Given the description of an element on the screen output the (x, y) to click on. 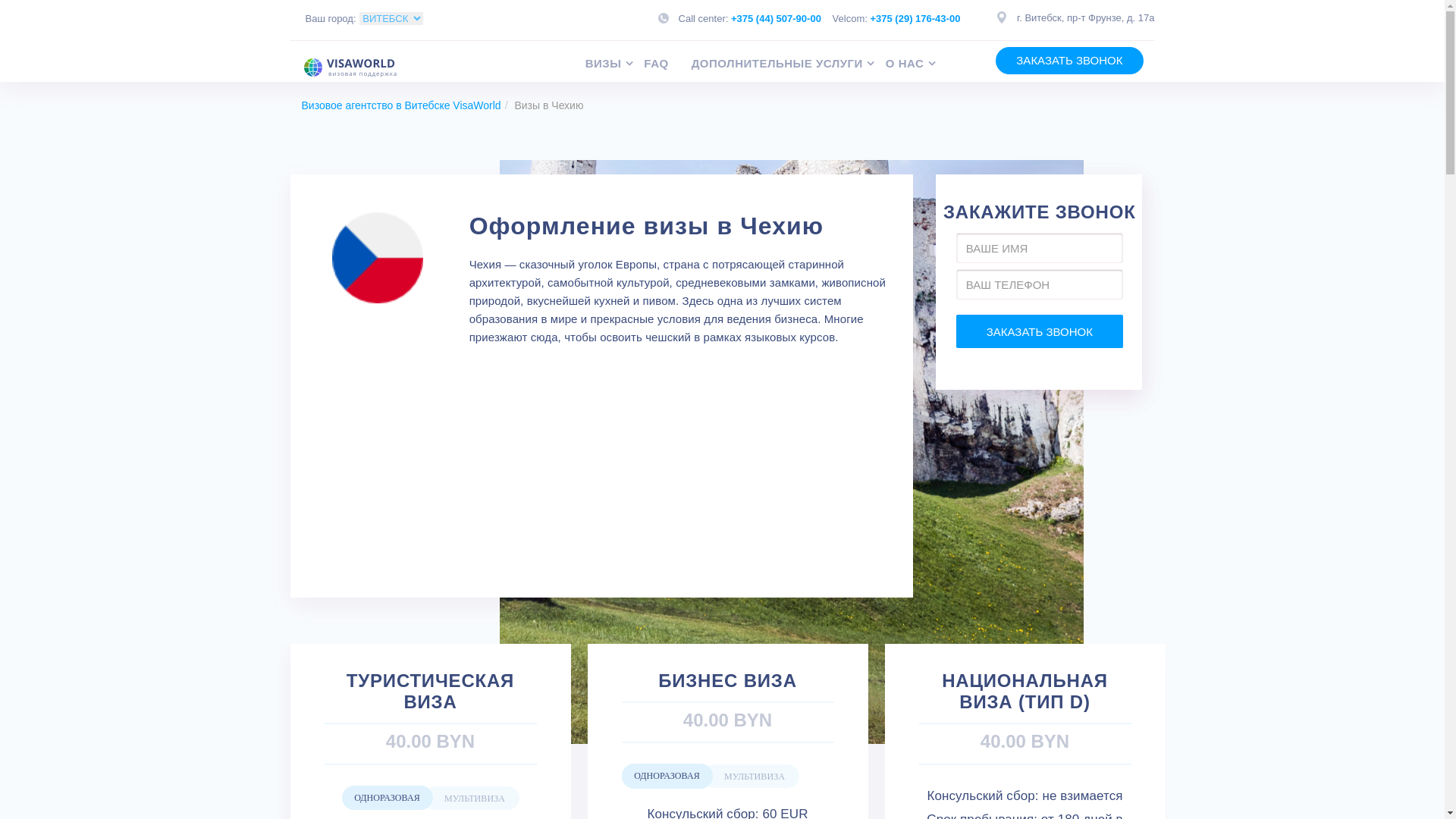
FAQ Element type: text (666, 63)
+375 (44) 507-90-00 Element type: text (776, 18)
+375 (29) 176-43-00 Element type: text (914, 18)
